Given the description of an element on the screen output the (x, y) to click on. 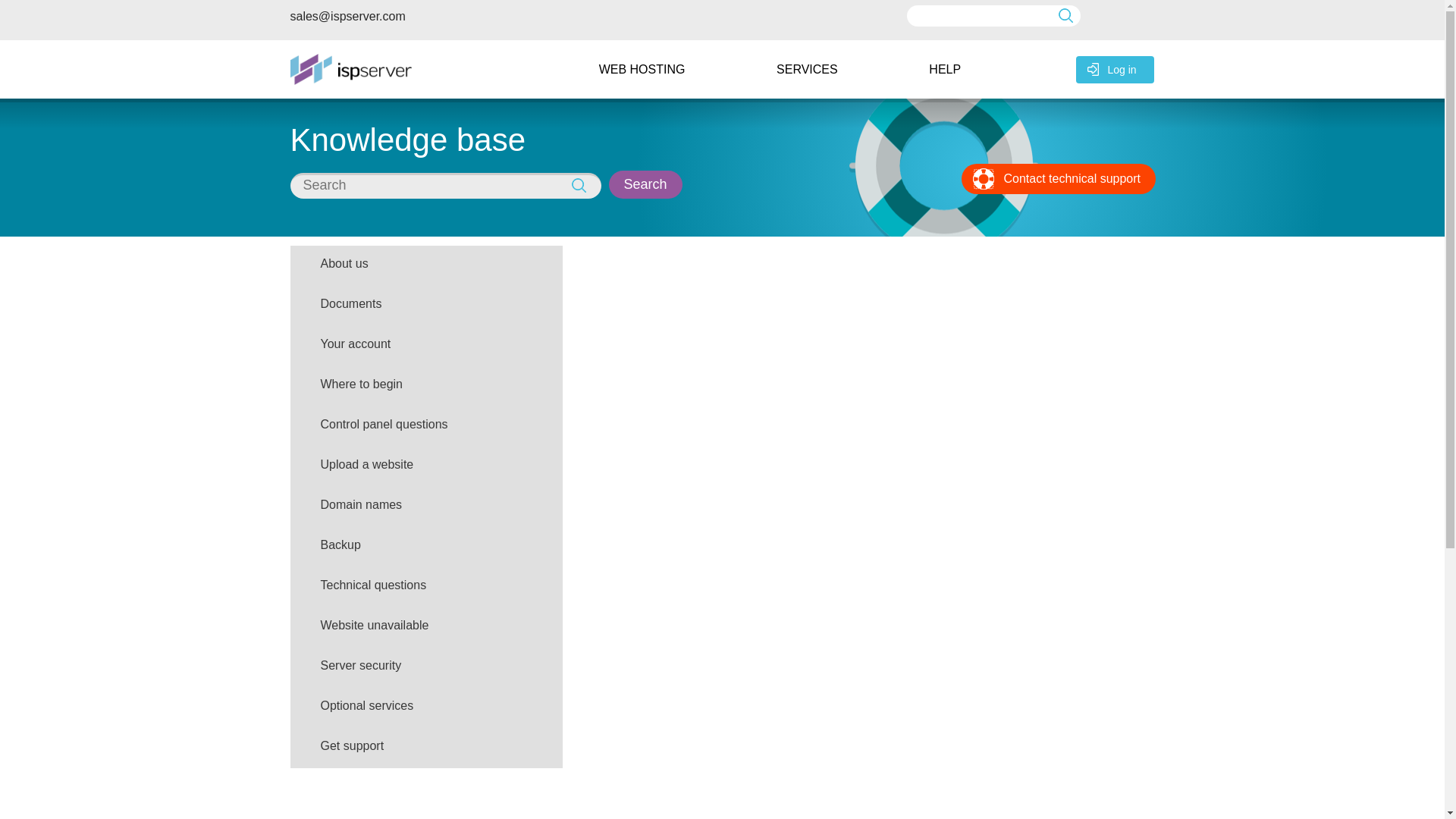
Log in  (1114, 69)
Backup (425, 547)
Domain names (425, 506)
Search (13, 10)
Search (644, 184)
ISPserver (349, 69)
Where to begin (425, 386)
Technical questions (425, 587)
Documents (425, 305)
Enter keywords for your search. (444, 185)
